Given the description of an element on the screen output the (x, y) to click on. 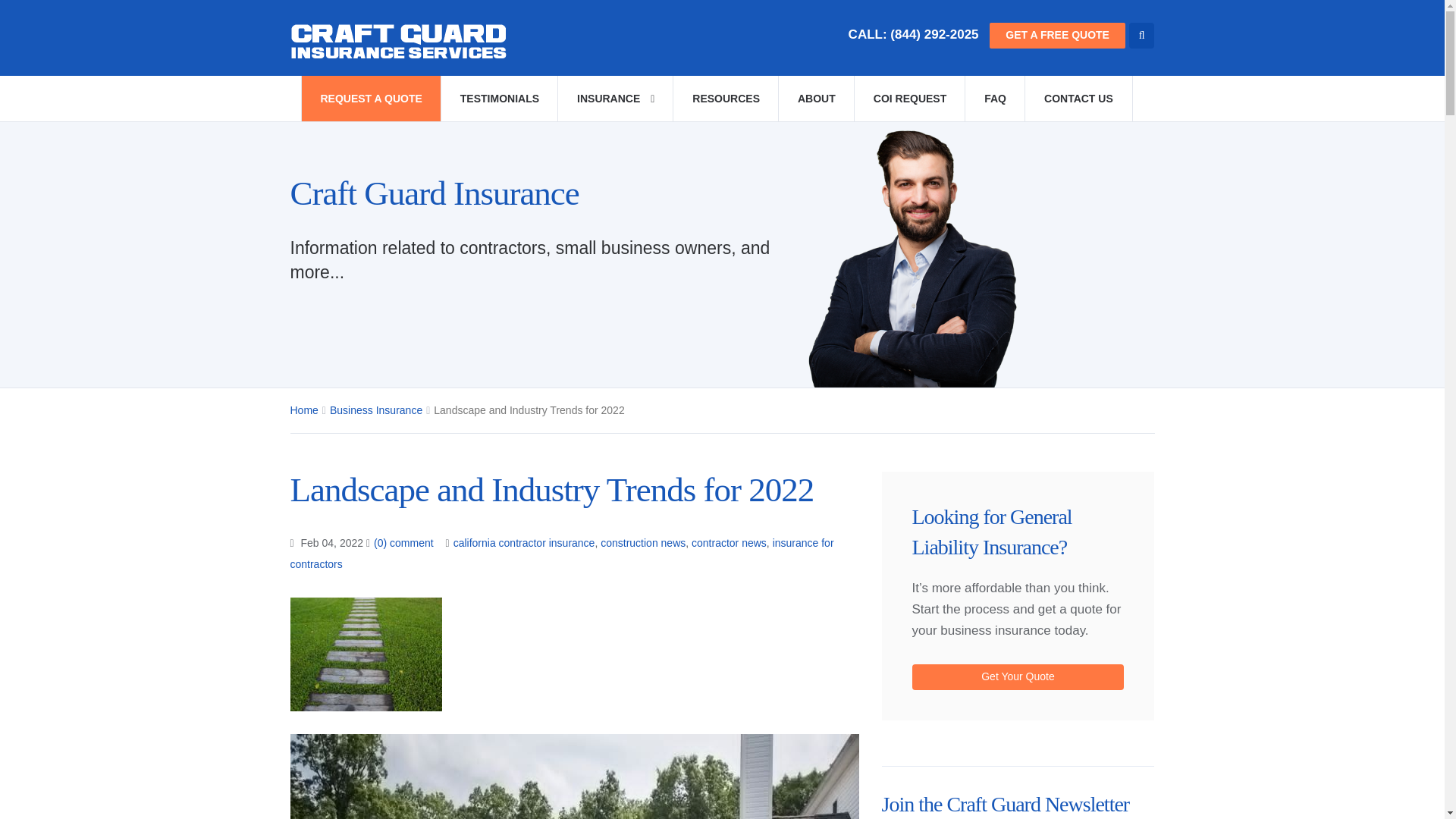
construction news (642, 542)
INSURANCE (614, 98)
Contact Us (1078, 98)
TESTIMONIALS (499, 98)
About (815, 98)
RESOURCES (725, 98)
COI Request (909, 98)
Request a Quote (370, 98)
Business Insurance (376, 410)
Insurance (614, 98)
